Given the description of an element on the screen output the (x, y) to click on. 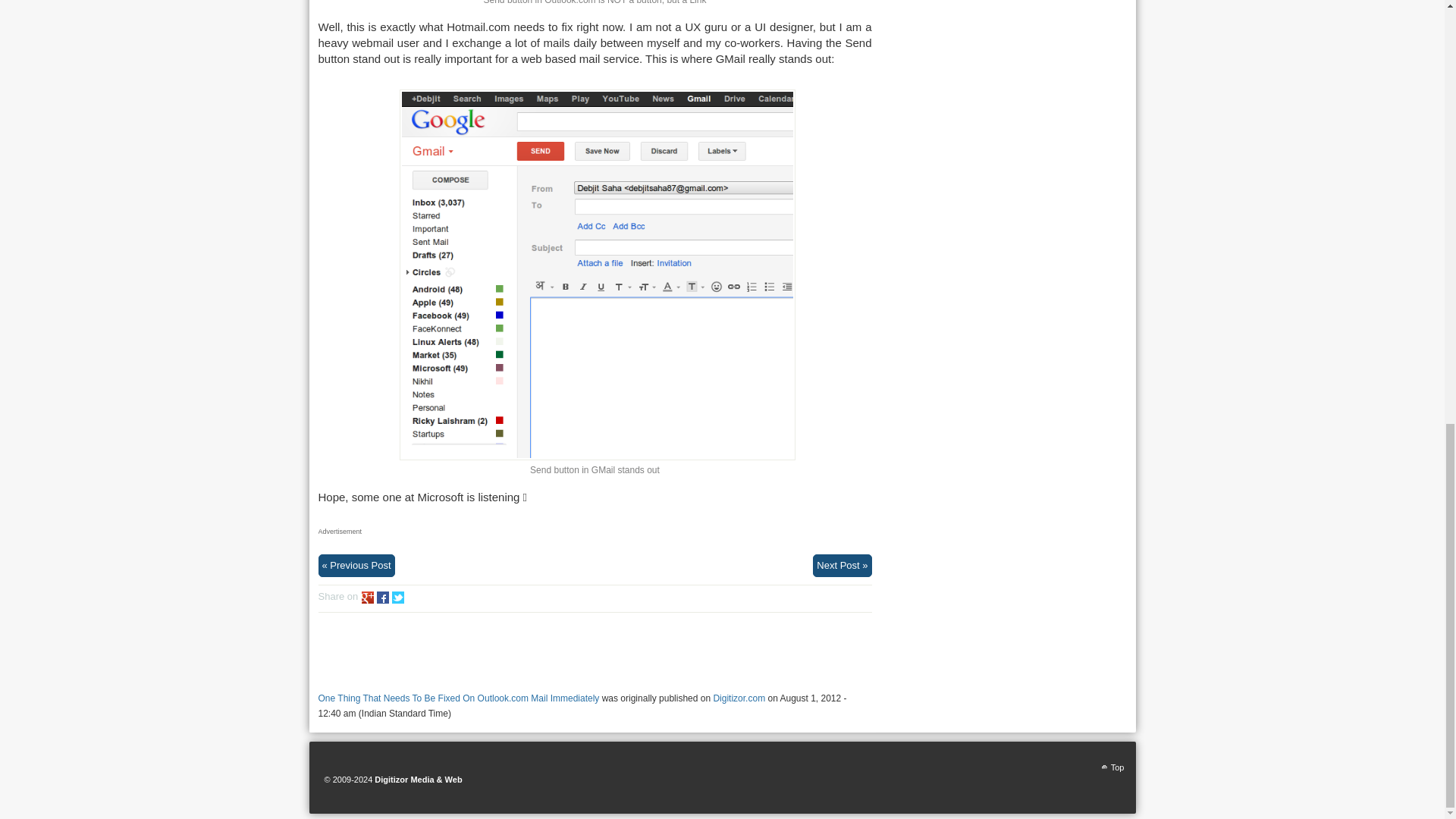
share on fb (382, 597)
Digitizor.com (739, 697)
share this post on Twitter (397, 597)
share this post on Facebook (382, 597)
share on tw (397, 597)
Top (1111, 766)
share on gp (367, 597)
